Given the description of an element on the screen output the (x, y) to click on. 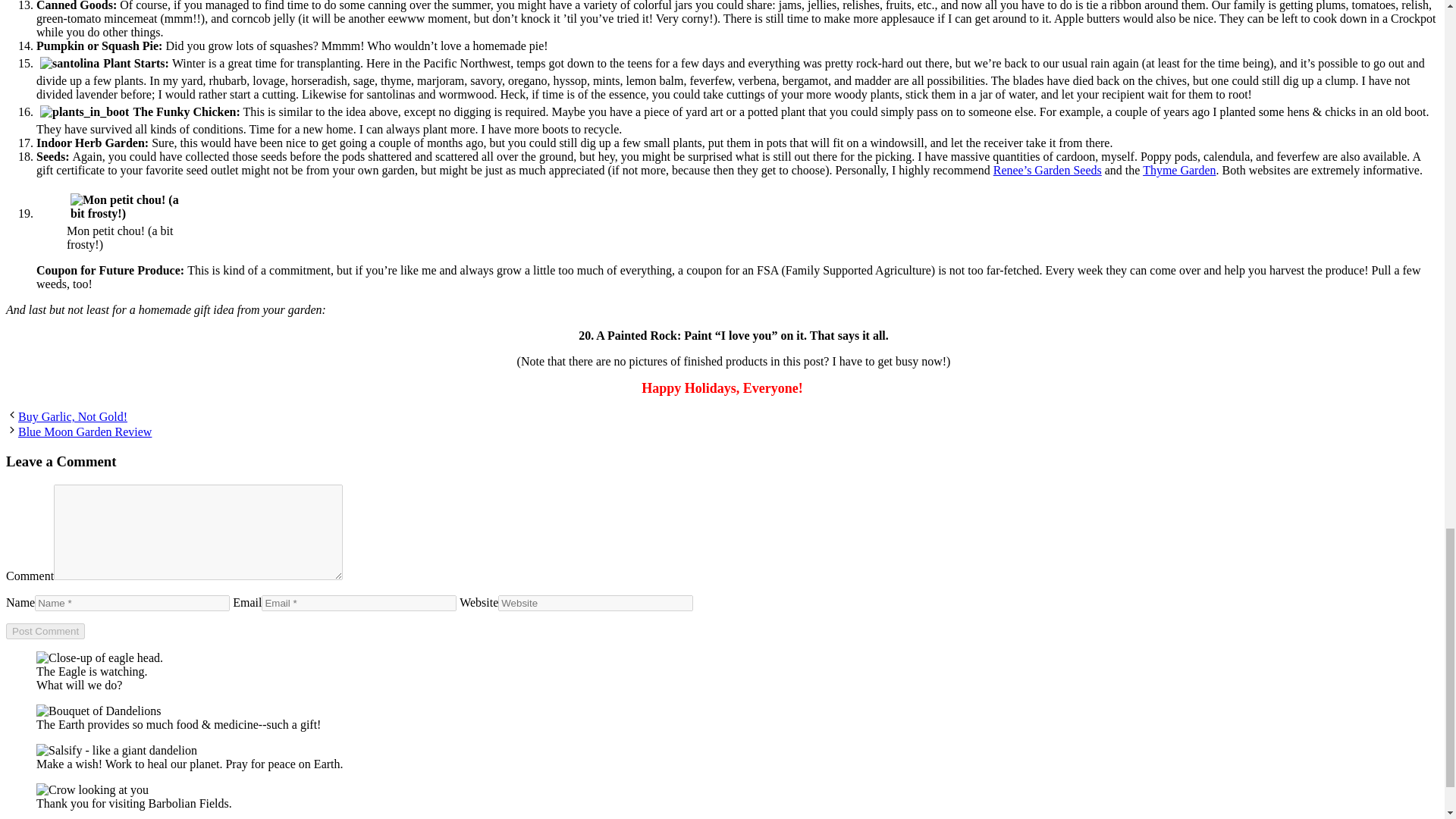
Post Comment (44, 631)
